Given the description of an element on the screen output the (x, y) to click on. 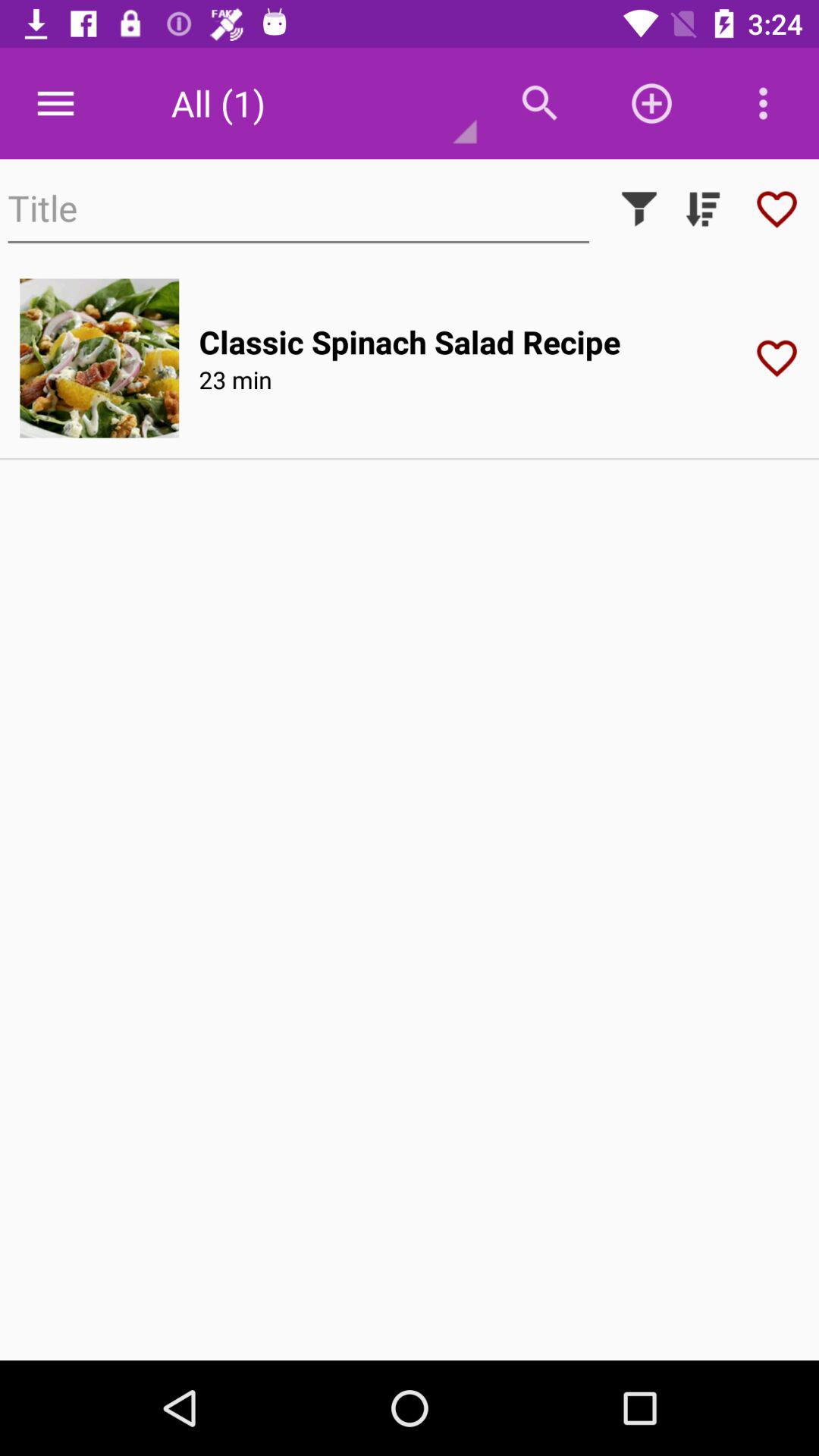
sort by option (702, 208)
